Given the description of an element on the screen output the (x, y) to click on. 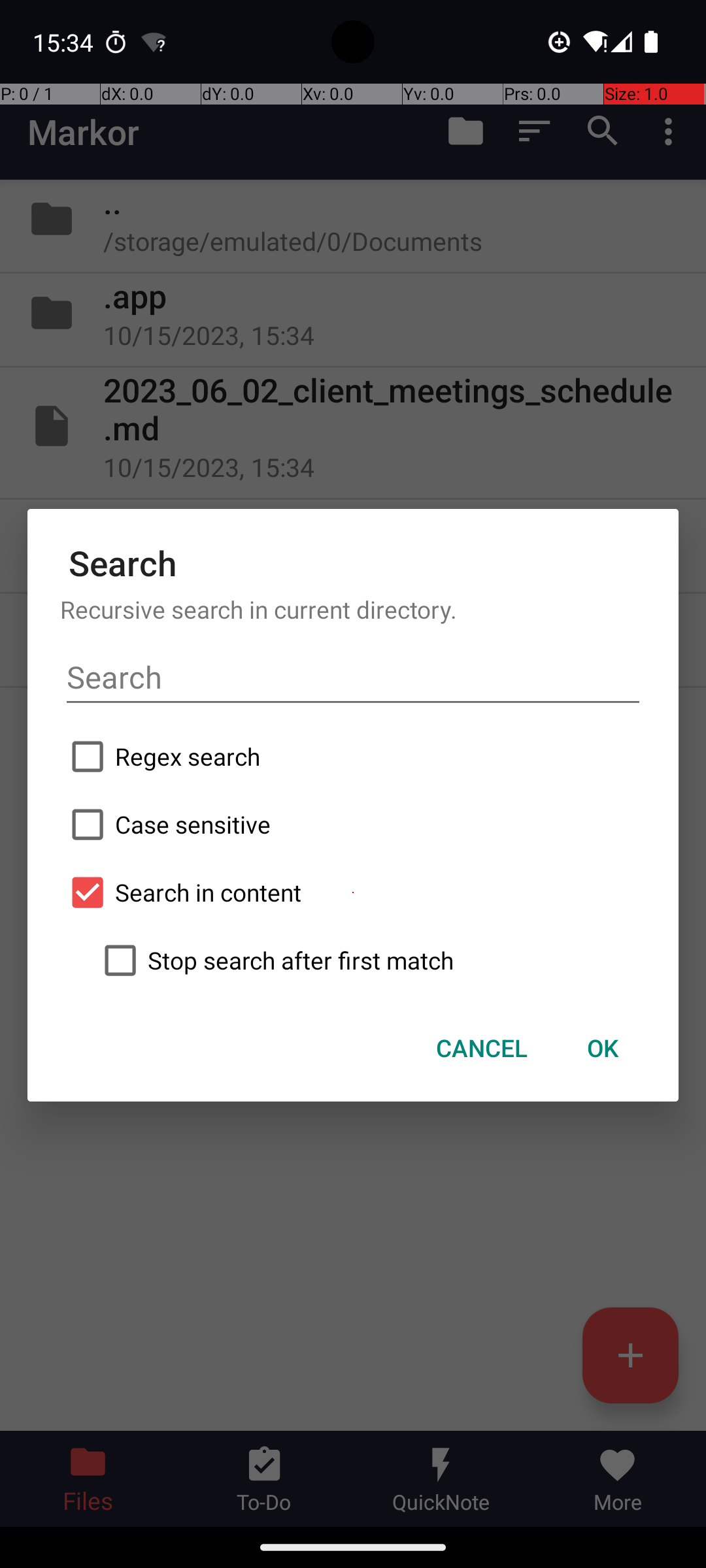
Stop search after first match Element type: android.widget.CheckBox (368, 959)
